Given the description of an element on the screen output the (x, y) to click on. 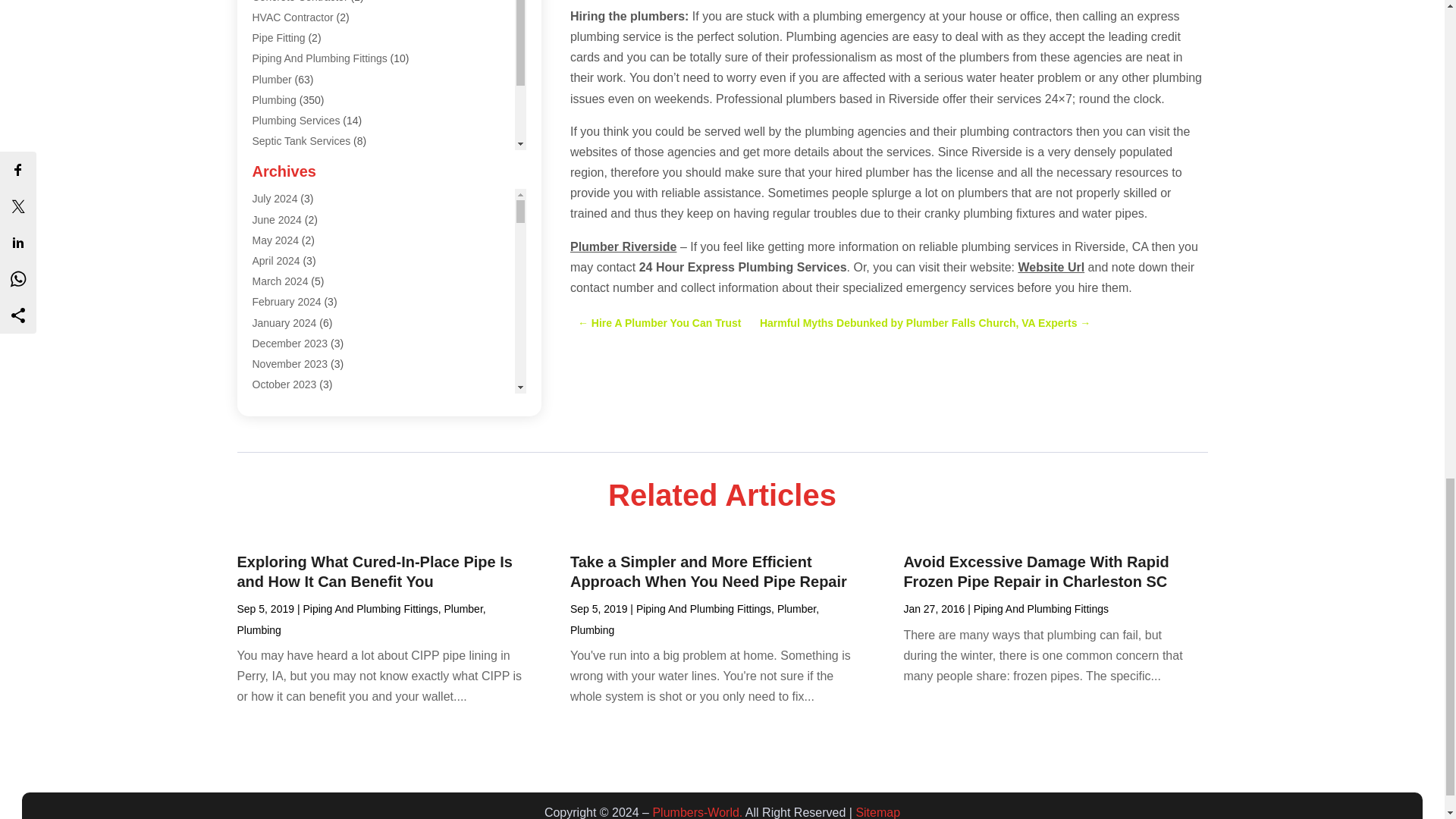
Septic Tank Services (300, 141)
Plumber (271, 79)
Concrete Contractor (299, 1)
Pipe Fitting (277, 37)
Water Pipe (277, 223)
HVAC Contractor (292, 17)
May 2024 (274, 240)
Uncategorized (285, 182)
June 2024 (276, 219)
July 2024 (274, 198)
January 2024 (283, 322)
Water Heater (282, 203)
Piping And Plumbing Fittings (319, 58)
Plumbing (273, 100)
Sewer Repair (283, 161)
